Given the description of an element on the screen output the (x, y) to click on. 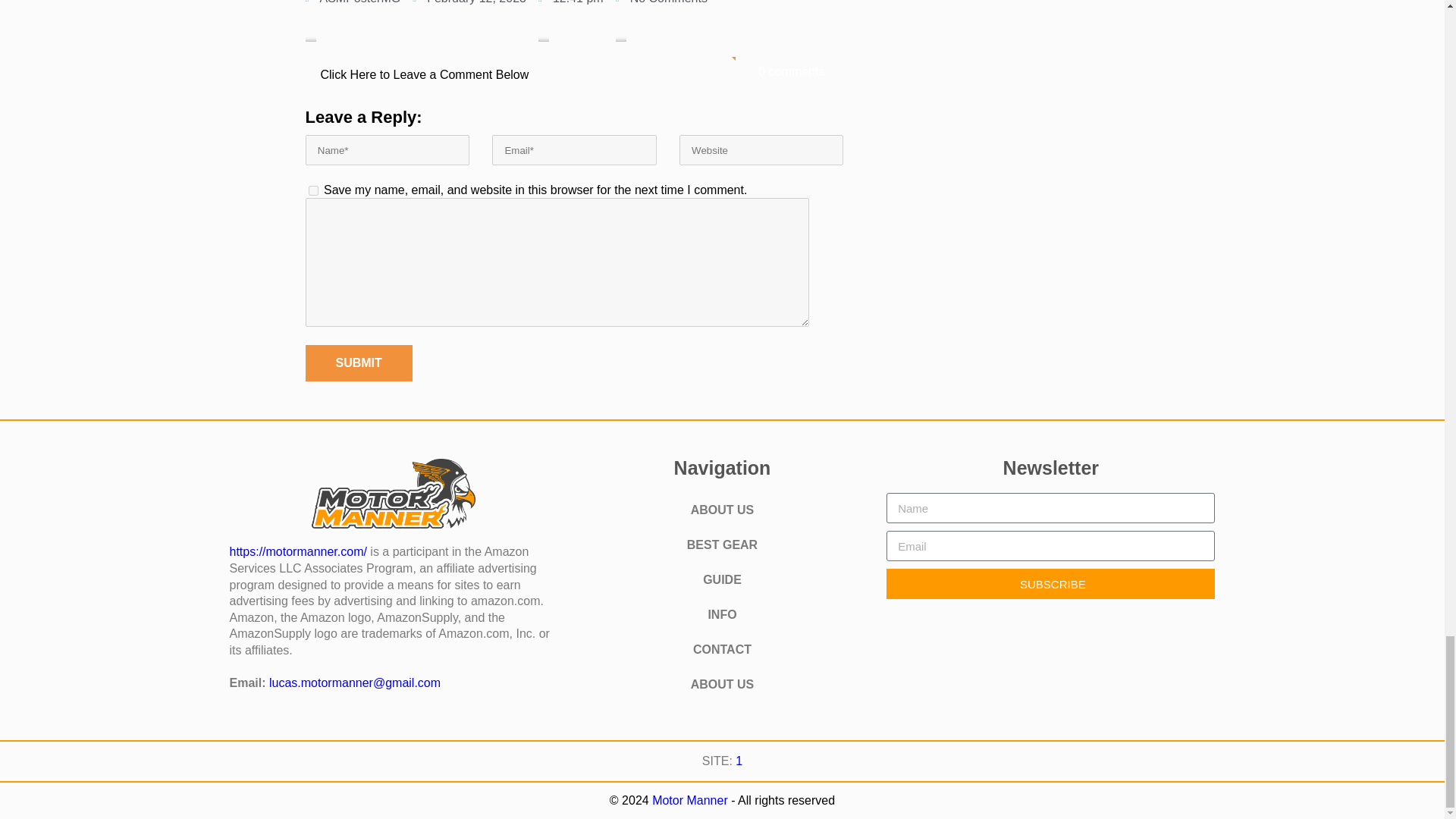
yes (312, 190)
SUBMIT (358, 362)
